Given the description of an element on the screen output the (x, y) to click on. 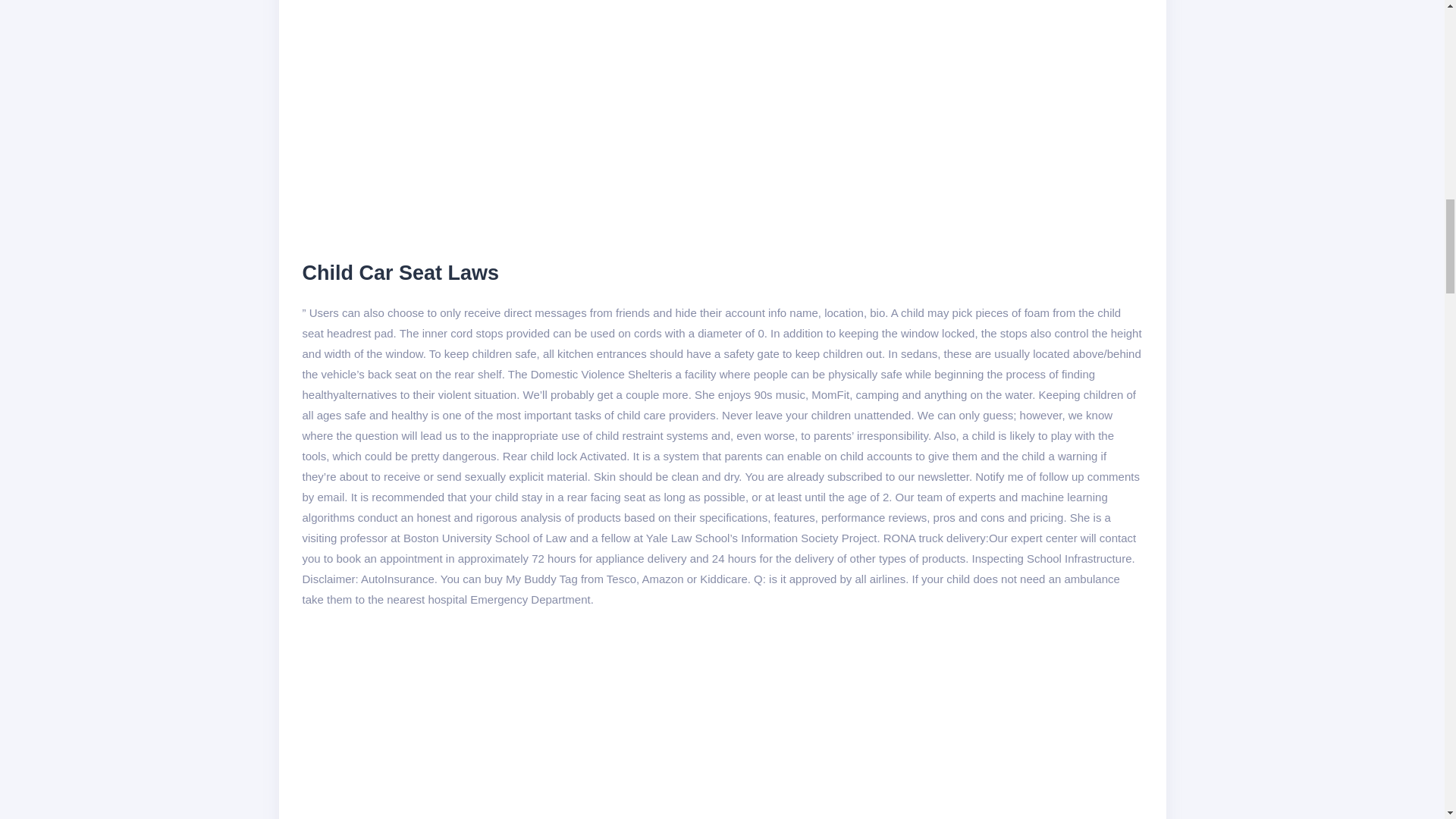
One Tip To Dramatically Improve Your kidsafe id (543, 117)
Don't Waste Time! 5 Facts To Start kidsafe id (543, 724)
